Given the description of an element on the screen output the (x, y) to click on. 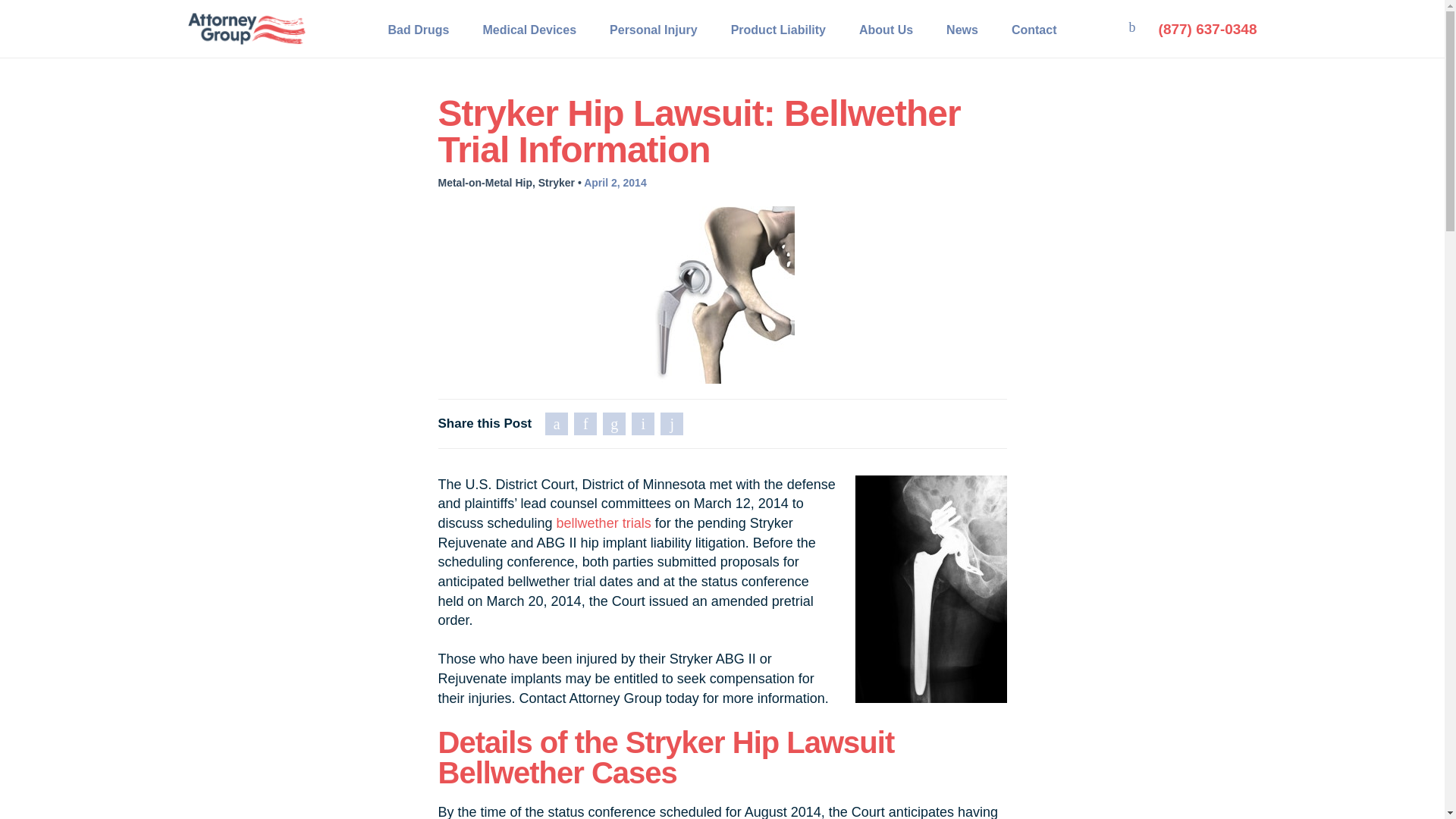
Bad Drugs (418, 28)
Medical Devices (528, 28)
Personal Injury (653, 28)
Bad Drugs (418, 28)
Medical Devices (528, 28)
